Given the description of an element on the screen output the (x, y) to click on. 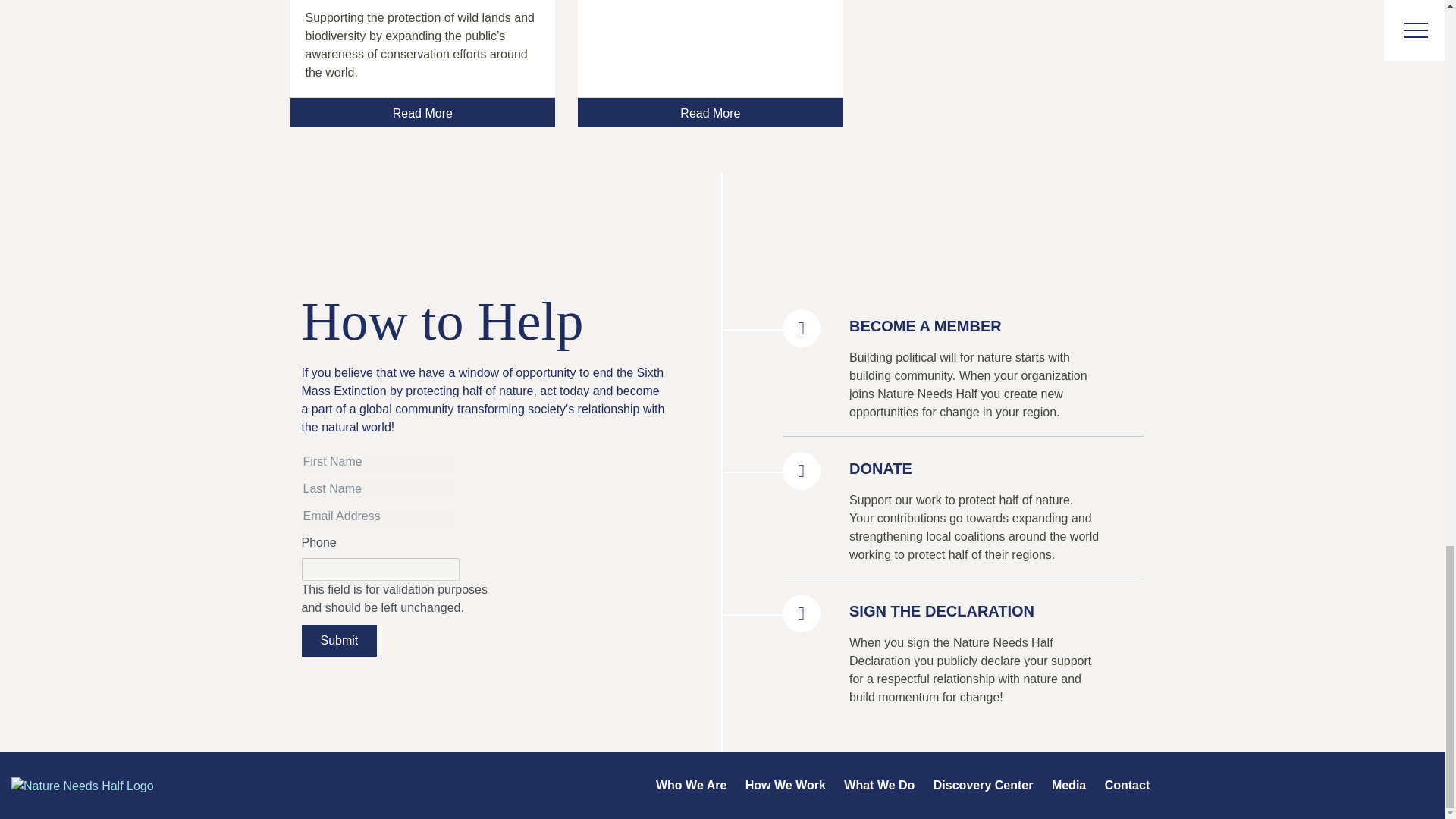
Read More (421, 112)
Submit (339, 640)
Read More (710, 112)
Submit (339, 640)
